Given the description of an element on the screen output the (x, y) to click on. 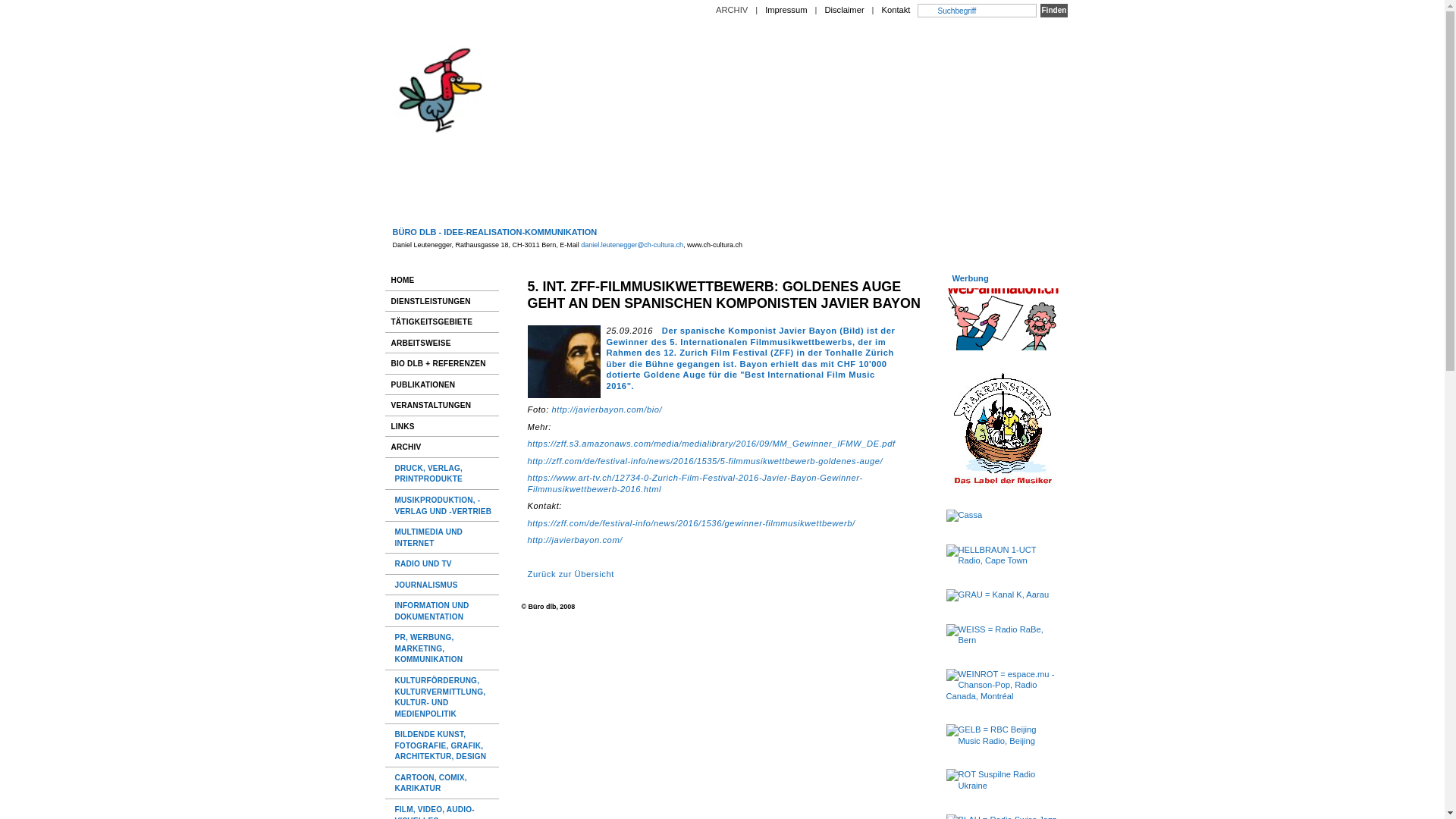
MULTIMEDIA UND INTERNET Element type: text (443, 536)
ARCHIV Element type: text (731, 9)
PR, WERBUNG, MARKETING, KOMMUNIKATION Element type: text (443, 648)
ARCHIV Element type: text (441, 446)
ARBEITSWEISE Element type: text (441, 342)
BILDENDE KUNST, FOTOGRAFIE, GRAFIK, ARCHITEKTUR, DESIGN Element type: text (443, 745)
Home Element type: hover (722, 293)
INFORMATION UND DOKUMENTATION Element type: text (443, 610)
VERANSTALTUNGEN Element type: text (441, 405)
web-animation.ch Element type: hover (1003, 319)
CARTOON, COMIX, KARIKATUR Element type: text (443, 782)
DIENSTLEISTUNGEN Element type: text (441, 301)
Kontakt Element type: text (895, 9)
Narrenschiff-Label Element type: hover (1003, 429)
HOME Element type: text (441, 279)
Radio RaBe, Bern Element type: hover (1003, 635)
m-e-r-c-i- Element type: hover (1003, 515)
Kanal K, Aarau Element type: hover (1003, 595)
UCT Radio, Cape Town Element type: hover (1003, 555)
daniel.leutenegger@ch-cultura.ch Element type: text (631, 244)
JOURNALISMUS Element type: text (443, 584)
PUBLIKATIONEN Element type: text (441, 384)
http://javierbayon.com/bio/ Element type: text (606, 409)
RADIO UND TV Element type: text (443, 563)
RBC Beijing Music Radio, Beijing Element type: hover (1003, 735)
DRUCK, VERLAG, PRINTPRODUKTE Element type: text (443, 473)
Finden Element type: text (1053, 10)
http://javierbayon.com/ Element type: text (574, 539)
Suspilne Radio Ukraine Element type: hover (1003, 779)
Disclaimer Element type: text (843, 9)
MUSIKPRODUKTION, -VERLAG UND -VERTRIEB Element type: text (443, 504)
Impressum Element type: text (785, 9)
BIO DLB + REFERENZEN Element type: text (441, 363)
LINKS Element type: text (441, 426)
